Given the description of an element on the screen output the (x, y) to click on. 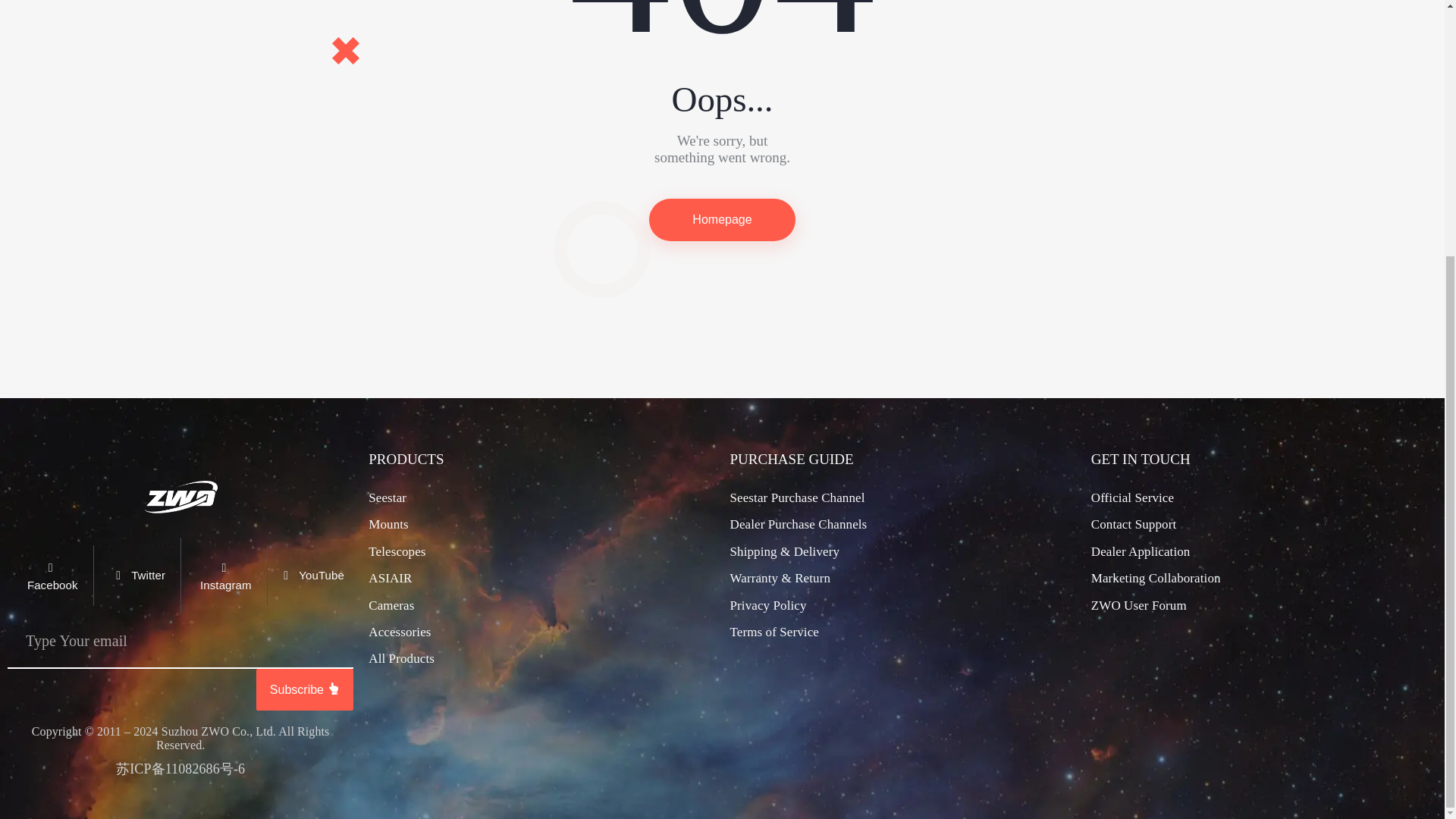
Subscribe (304, 690)
Twitter (136, 575)
Homepage (721, 219)
YouTube (309, 575)
Seestar (387, 498)
Instagram (223, 575)
Facebook (50, 575)
